Given the description of an element on the screen output the (x, y) to click on. 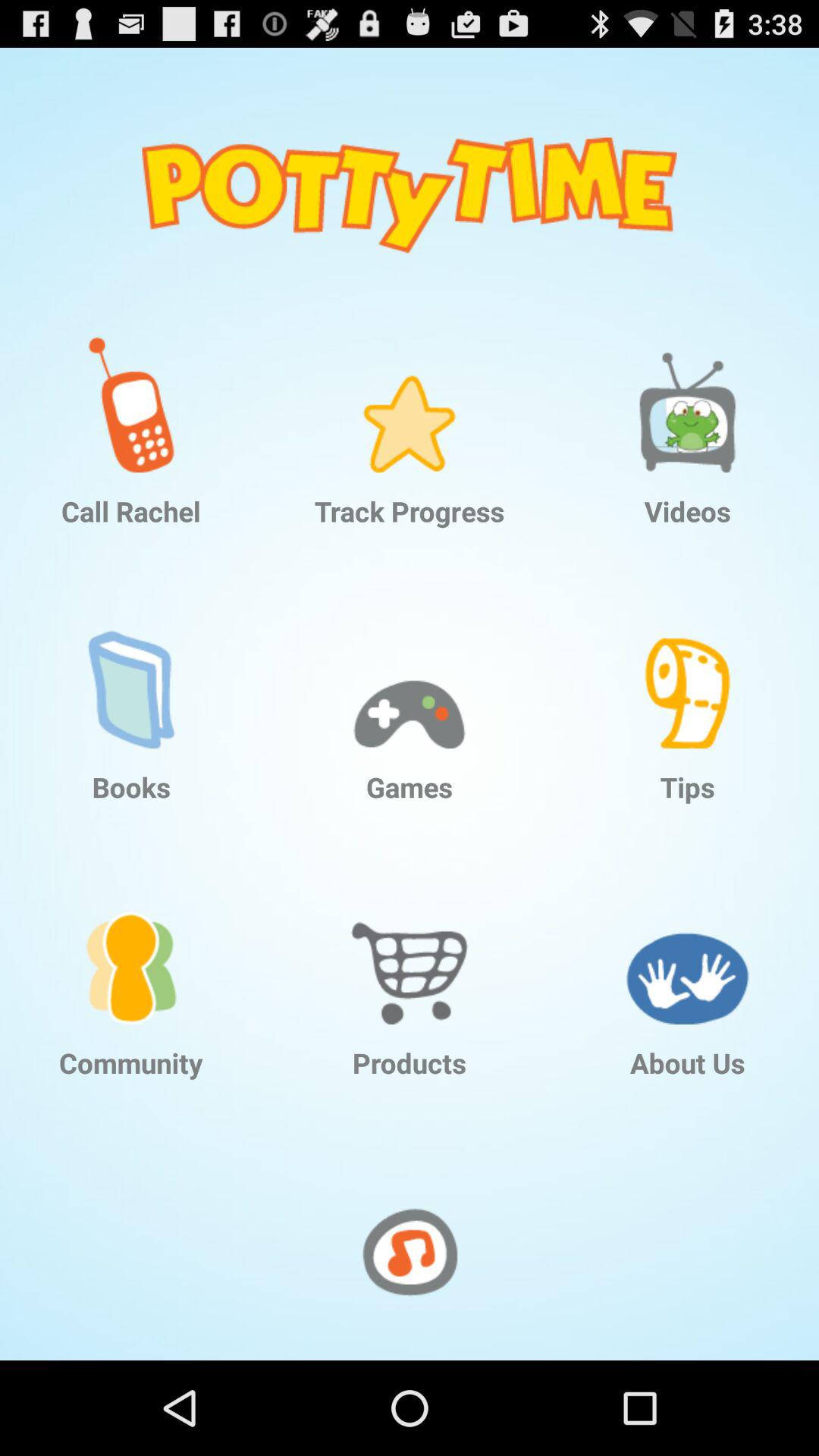
turn on icon below videos (687, 668)
